Given the description of an element on the screen output the (x, y) to click on. 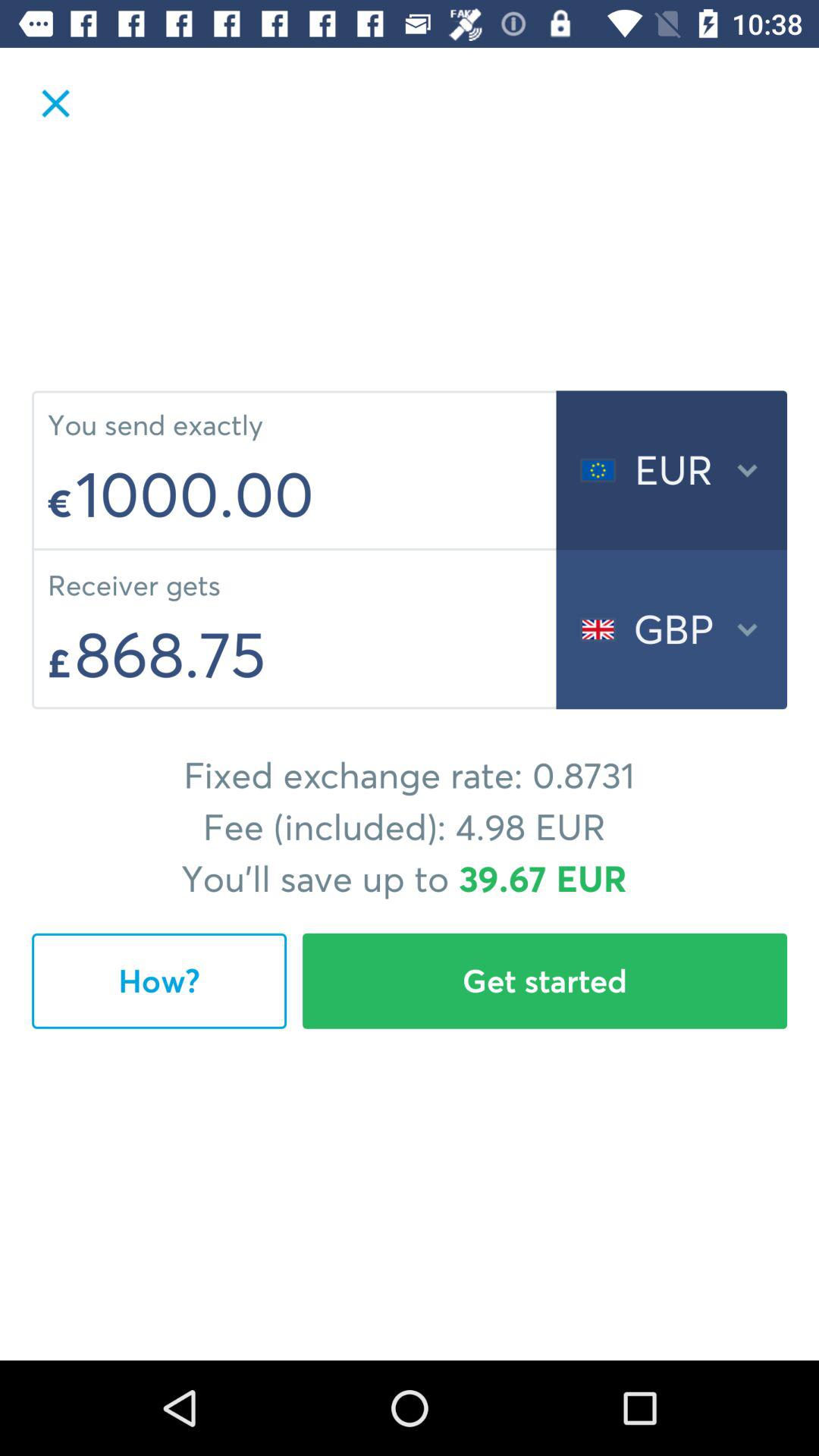
turn off icon at the bottom left corner (158, 980)
